Given the description of an element on the screen output the (x, y) to click on. 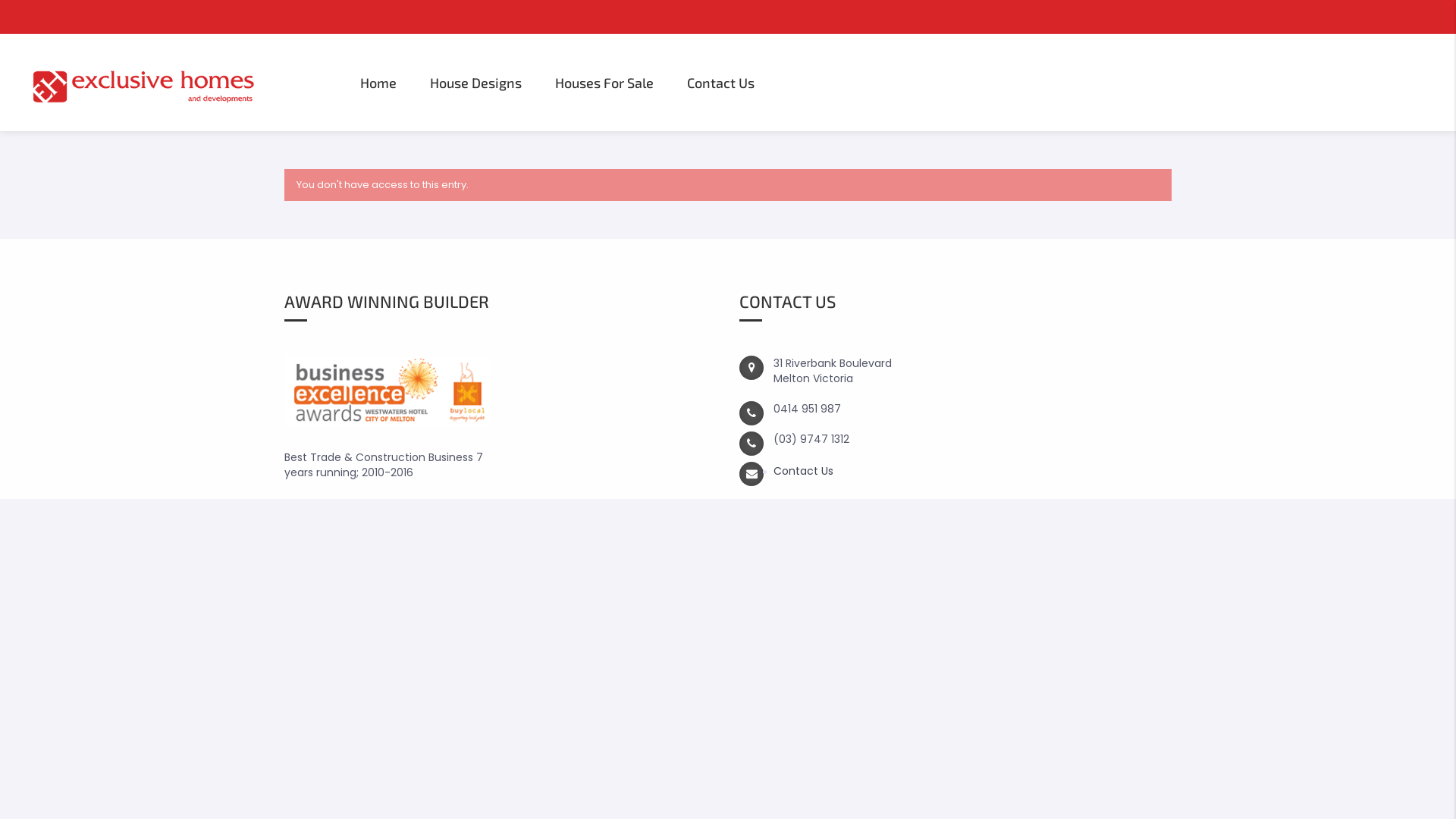
House Designs Element type: text (475, 82)
Houses For Sale Element type: text (604, 82)
Home Element type: text (378, 82)
House & Land Packages in Melton and Bacchus Marsh Element type: hover (181, 82)
Contact Us Element type: text (720, 82)
Contact Us Element type: text (803, 470)
